Given the description of an element on the screen output the (x, y) to click on. 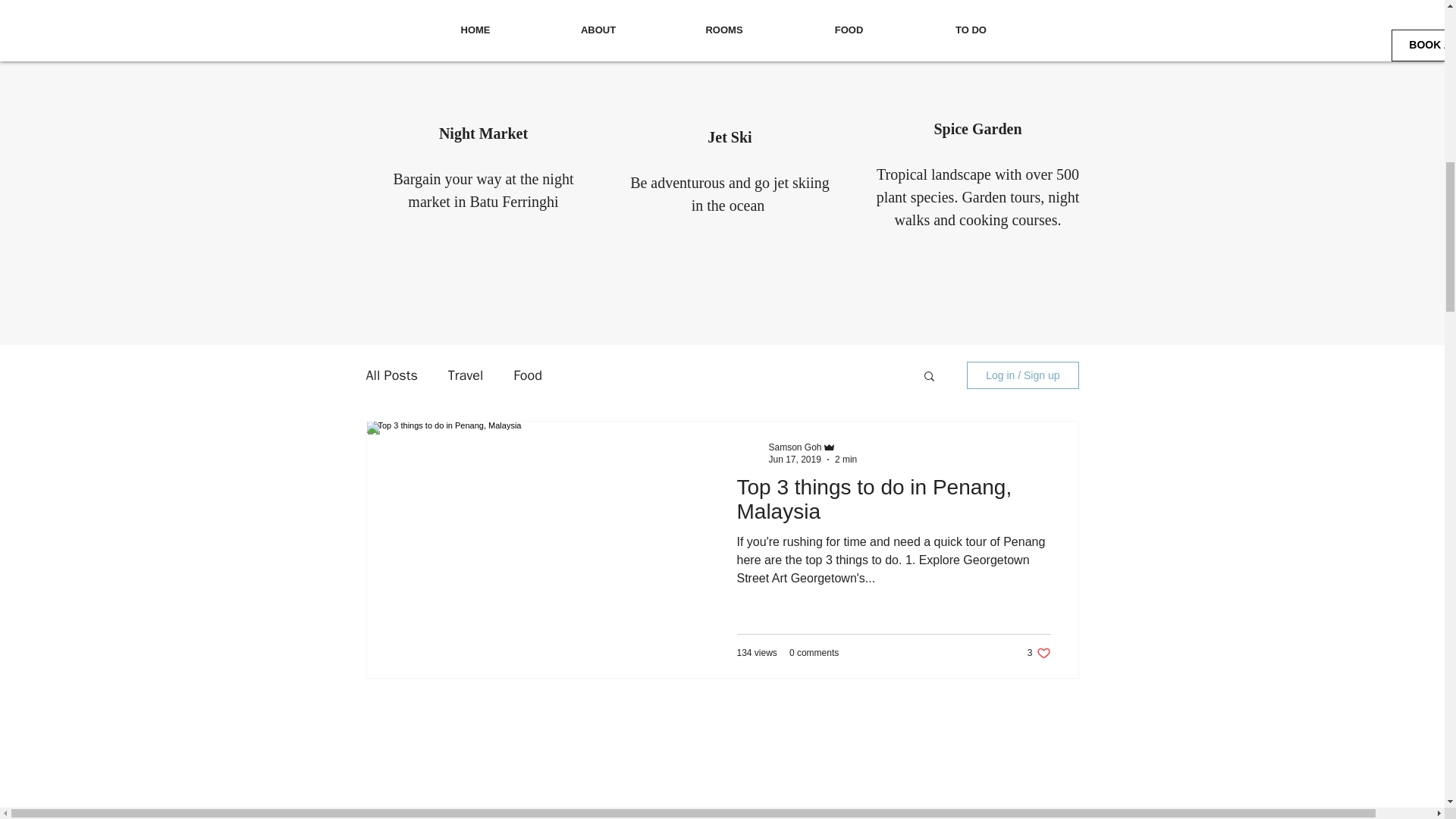
Samson Goh (795, 447)
Food (527, 375)
Jun 17, 2019 (794, 459)
2 min (845, 459)
All Posts (390, 375)
Travel (465, 375)
0 comments (813, 652)
Top 3 things to do in Penang, Malaysia (893, 504)
